Given the description of an element on the screen output the (x, y) to click on. 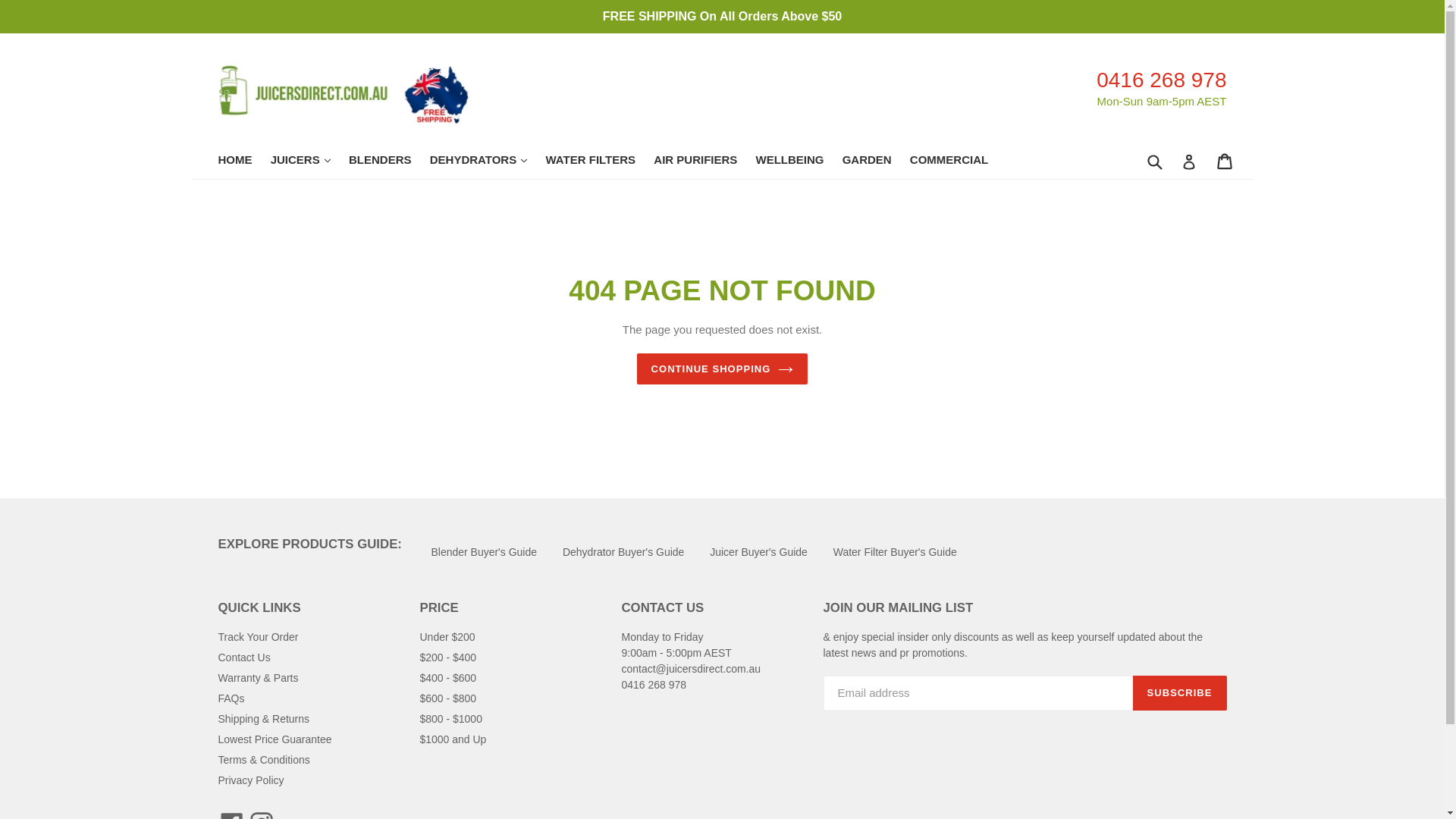
GARDEN (875, 161)
AIR PURIFIERS (702, 161)
HOME (242, 161)
JuicersDirect.com.au on Facebook (232, 815)
JuicersDirect.com.au on Instagram (261, 815)
BLENDERS (387, 161)
WELLBEING (796, 161)
WATER FILTERS (598, 161)
